Given the description of an element on the screen output the (x, y) to click on. 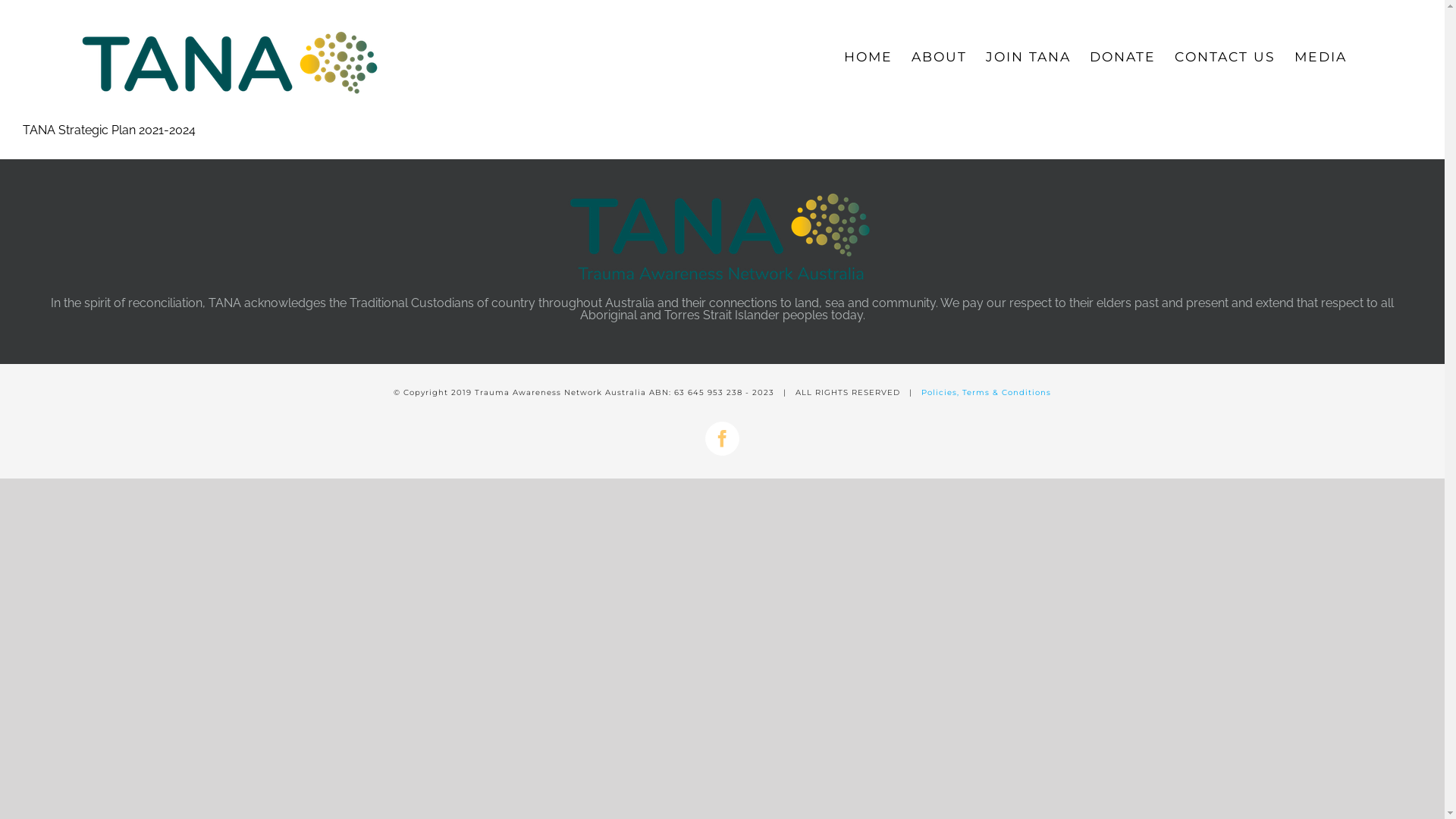
Facebook Element type: text (722, 438)
DONATE Element type: text (1122, 56)
CONTACT US Element type: text (1224, 56)
JOIN TANA Element type: text (1027, 56)
ABOUT Element type: text (938, 56)
Policies, Terms & Conditions Element type: text (986, 392)
MEDIA Element type: text (1320, 56)
TANA Strategic Plan 2021-2024 Element type: text (108, 129)
HOME Element type: text (868, 56)
